Given the description of an element on the screen output the (x, y) to click on. 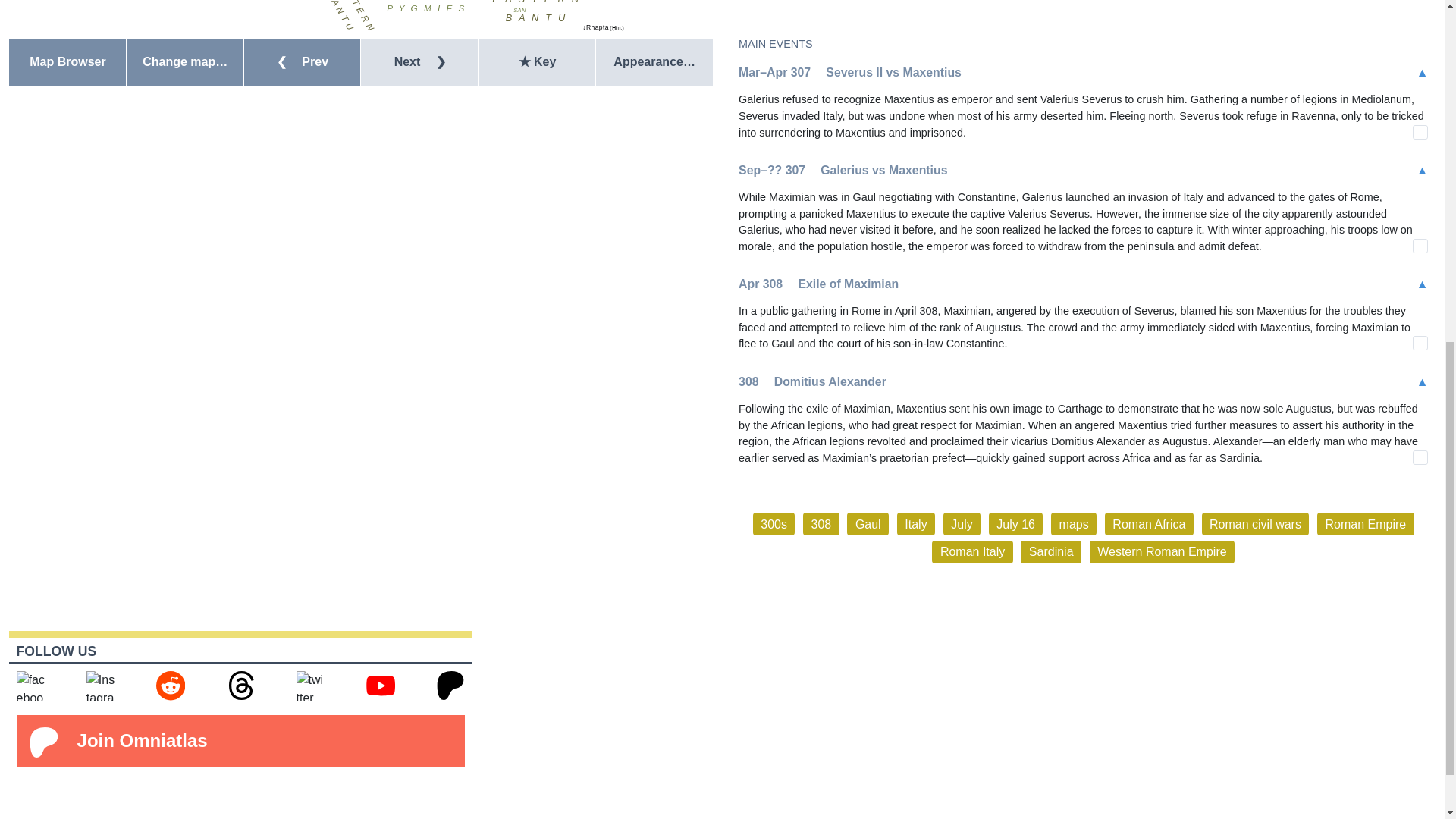
P  Y  G  M  I  E  S (425, 8)
Eastern Bantu peoples (535, 12)
